Given the description of an element on the screen output the (x, y) to click on. 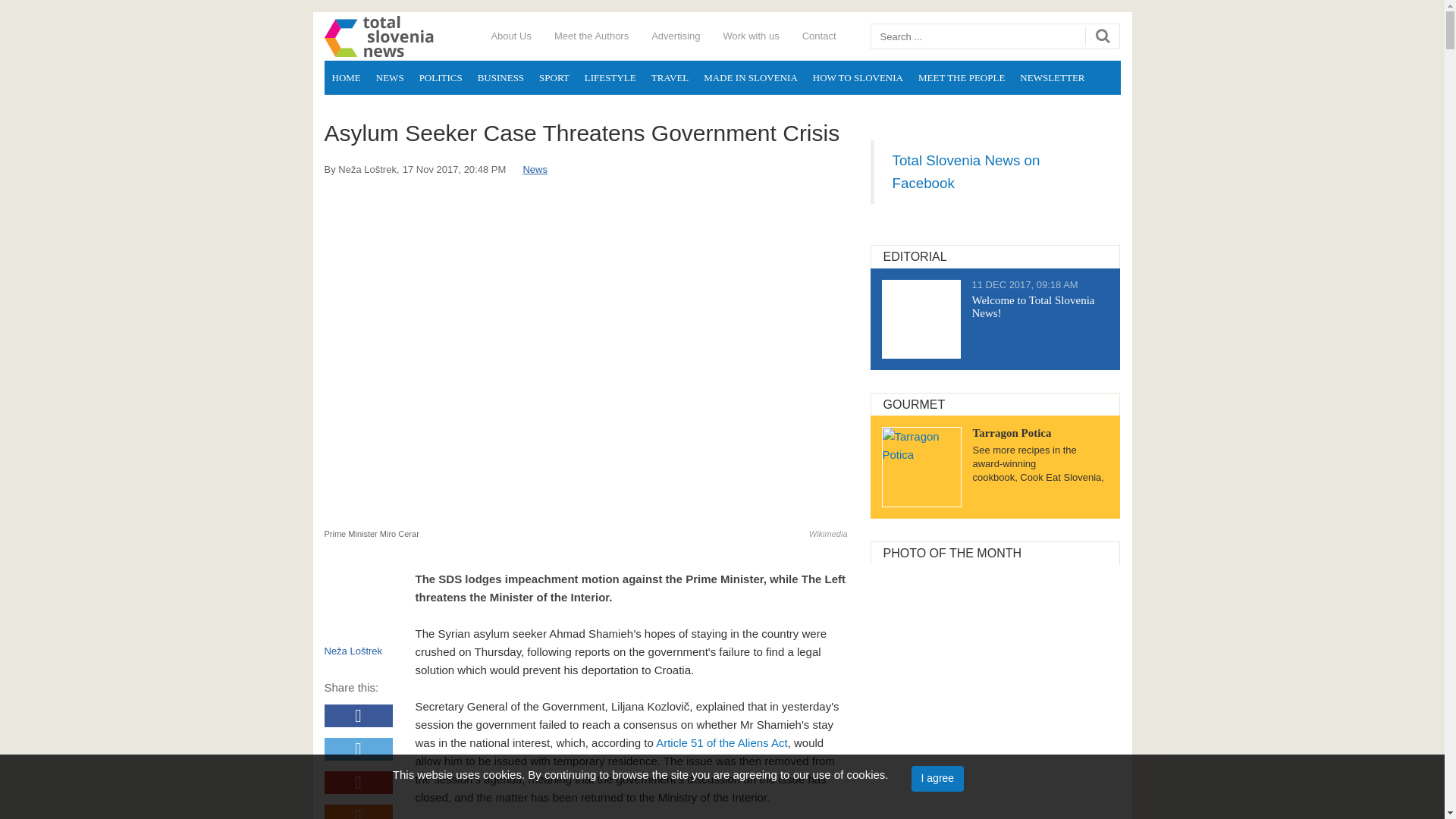
Continue reading "Tarragon Potica" (920, 466)
LIFESTYLE (609, 77)
About Us (510, 35)
NEWS (390, 77)
HOW TO SLOVENIA (858, 77)
Share (358, 715)
Share (358, 811)
News (534, 169)
Share (358, 782)
Article 51 of the Aliens Act (721, 742)
